Given the description of an element on the screen output the (x, y) to click on. 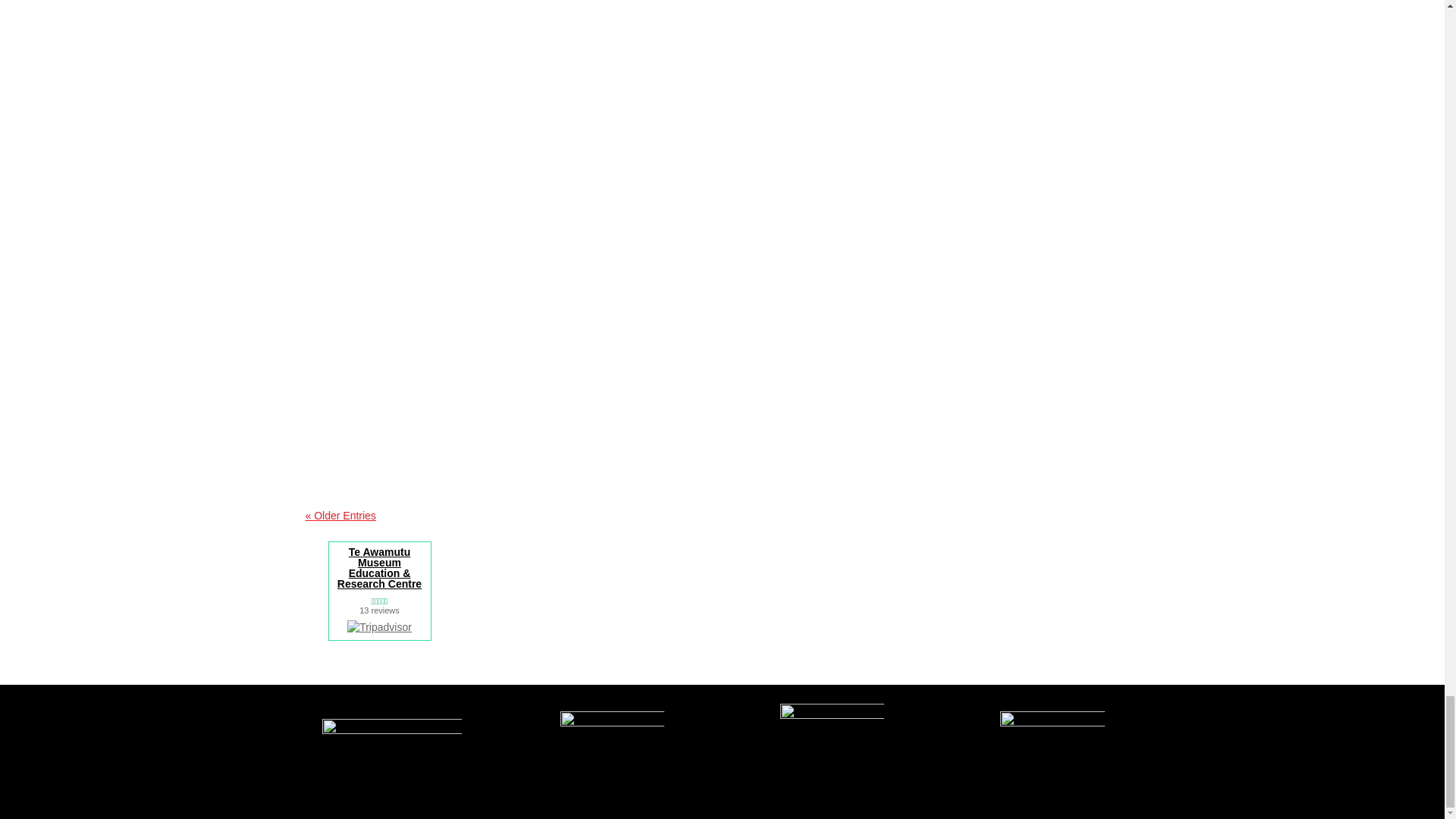
Covid Clean (832, 759)
